Given the description of an element on the screen output the (x, y) to click on. 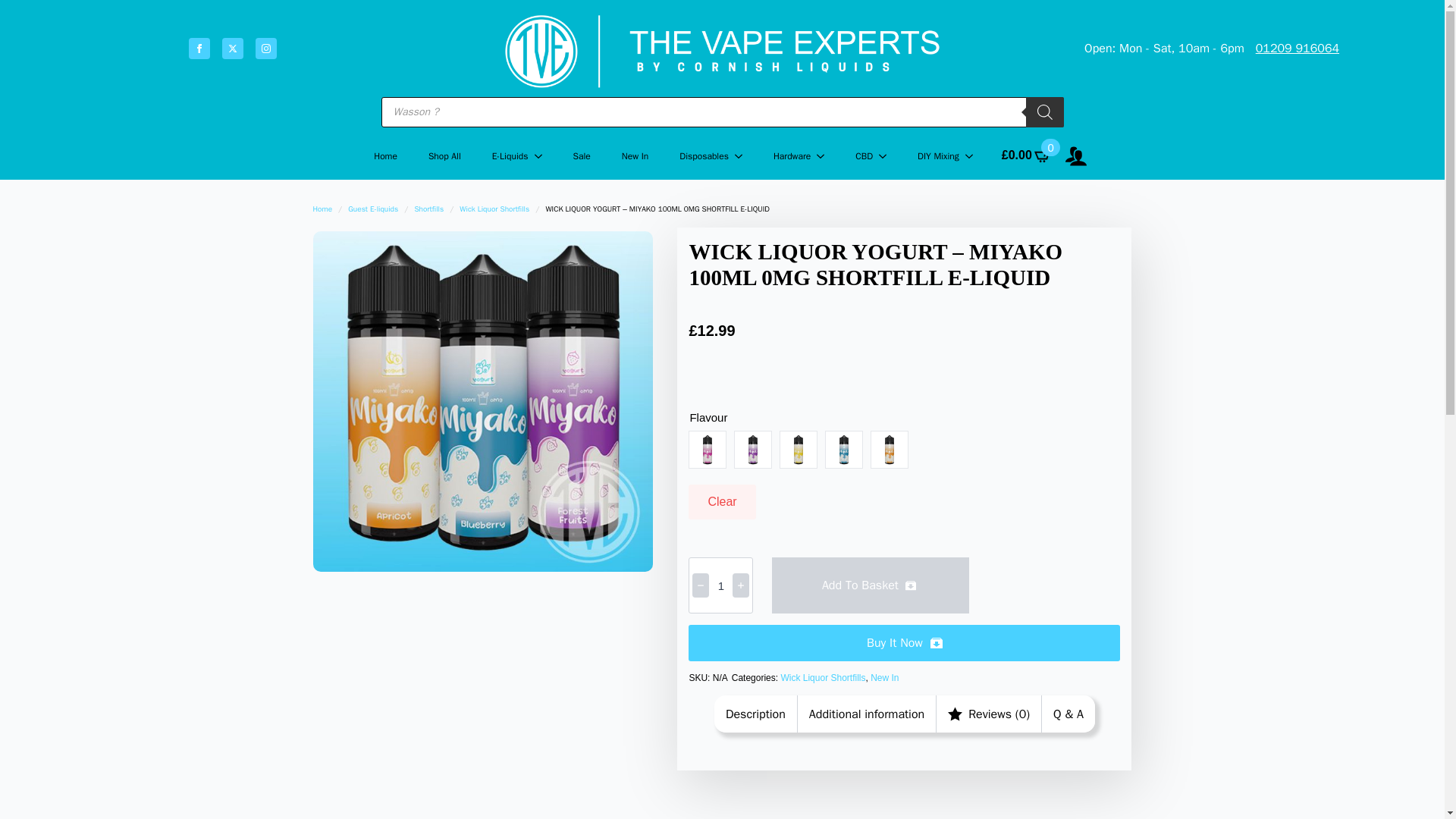
01209 916064 (1297, 48)
Raspberry (707, 449)
Forest Fruit (752, 449)
miy (482, 400)
E-Liquids (502, 156)
Shop All (444, 156)
Apricot (889, 449)
Home (385, 156)
Blueberry (844, 449)
1 (720, 585)
